Given the description of an element on the screen output the (x, y) to click on. 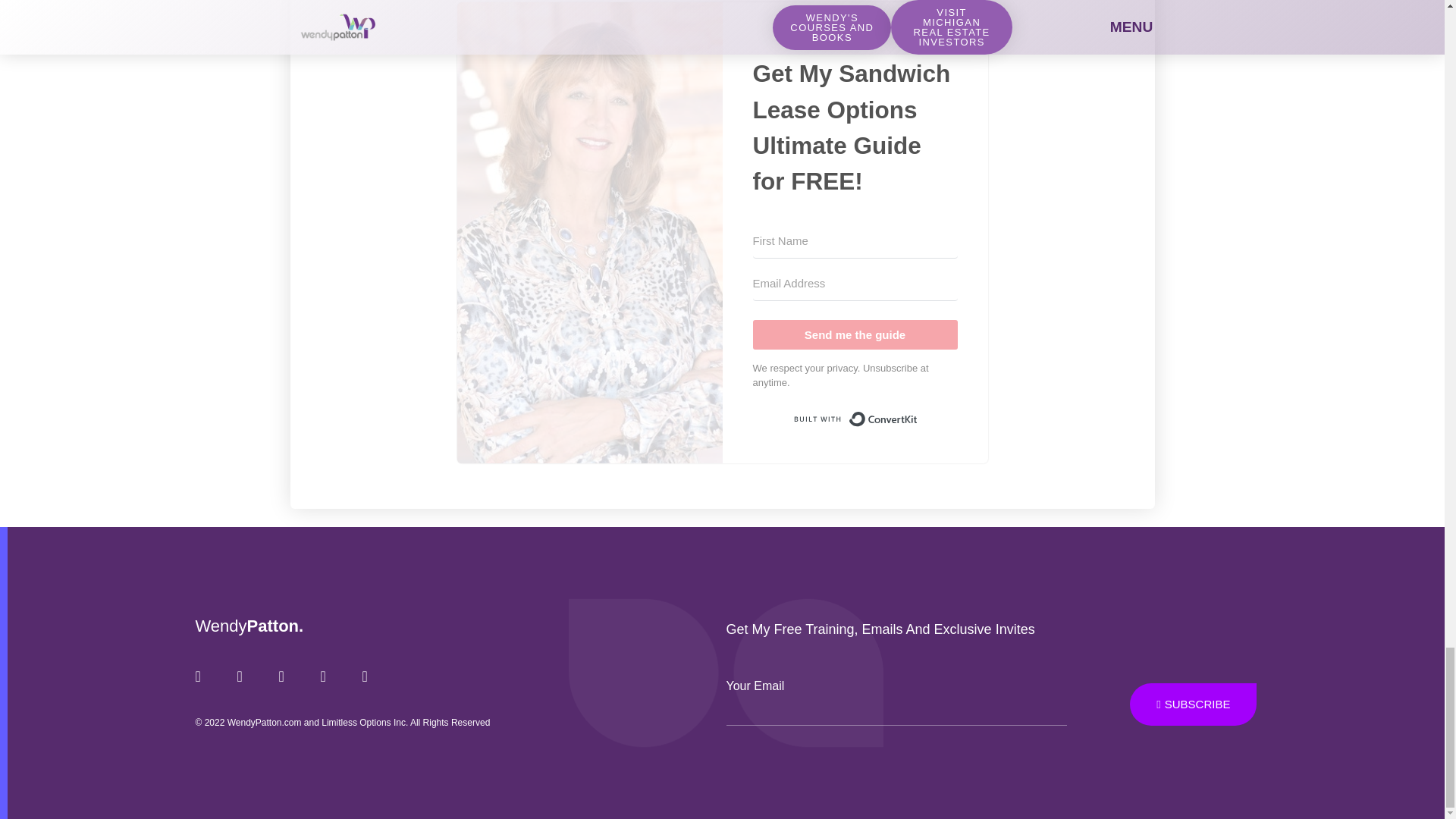
WendyPatton. (249, 625)
Built with ConvertKit (854, 419)
SUBSCRIBE (1192, 704)
Send me the guide (854, 334)
